Given the description of an element on the screen output the (x, y) to click on. 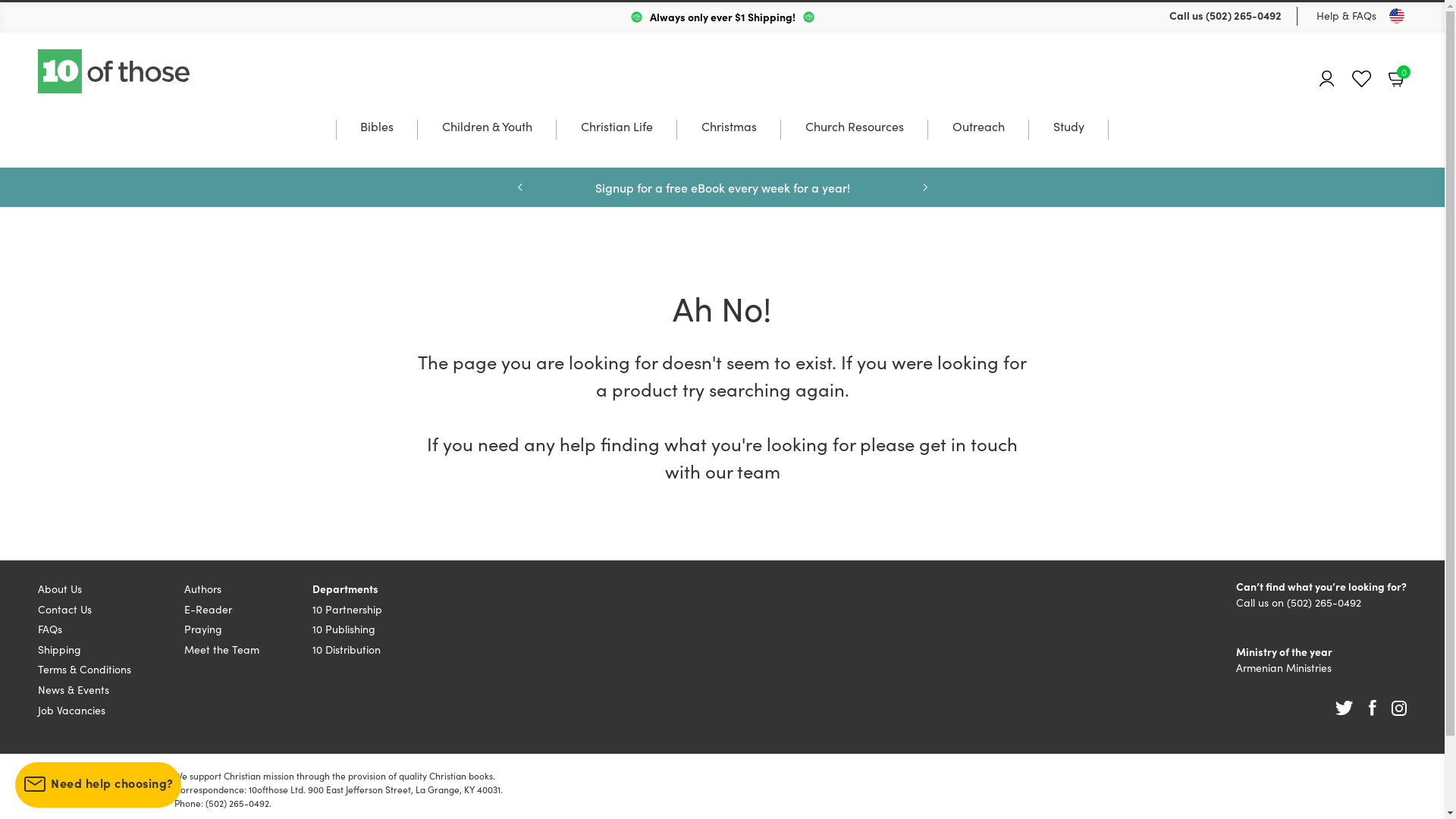
Christmas Element type: text (728, 140)
News & Events Element type: text (73, 688)
E-Reader Element type: text (208, 608)
get in touch Element type: text (968, 442)
Terms & Conditions Element type: text (84, 668)
(502) 265-0492 Element type: text (1323, 601)
Next Element type: text (924, 187)
Previous Element type: text (519, 187)
(502) 265-0492 Element type: text (1243, 14)
Help & FAQs Element type: text (1346, 14)
Favourites Element type: text (1361, 78)
Study Element type: text (1068, 140)
10 Publishing Element type: text (343, 628)
About Us Element type: text (59, 588)
Outreach Element type: text (978, 140)
Job Vacancies Element type: text (71, 709)
Account Element type: text (1326, 78)
Praying Element type: text (203, 628)
10 Distribution Element type: text (346, 648)
FAQs Element type: text (49, 628)
Always only ever $1 Shipping! Element type: text (721, 16)
View our 10Publishing Titles Element type: text (722, 187)
Meet the Team Element type: text (221, 648)
Contact Us Element type: text (64, 608)
Armenian Ministries Element type: text (1283, 666)
10 of those Element type: text (114, 71)
Need help choosing? Element type: text (98, 784)
Church Resources Element type: text (854, 140)
Facebook Element type: text (1372, 707)
10 Partnership Element type: text (347, 608)
Shipping Element type: text (59, 648)
Bibles Element type: text (376, 140)
Children & Youth Element type: text (487, 140)
Instagram Element type: text (1398, 707)
Christian Life Element type: text (616, 140)
Twitter Element type: text (1344, 707)
Basket
0 Element type: text (1397, 78)
Authors Element type: text (202, 588)
